Given the description of an element on the screen output the (x, y) to click on. 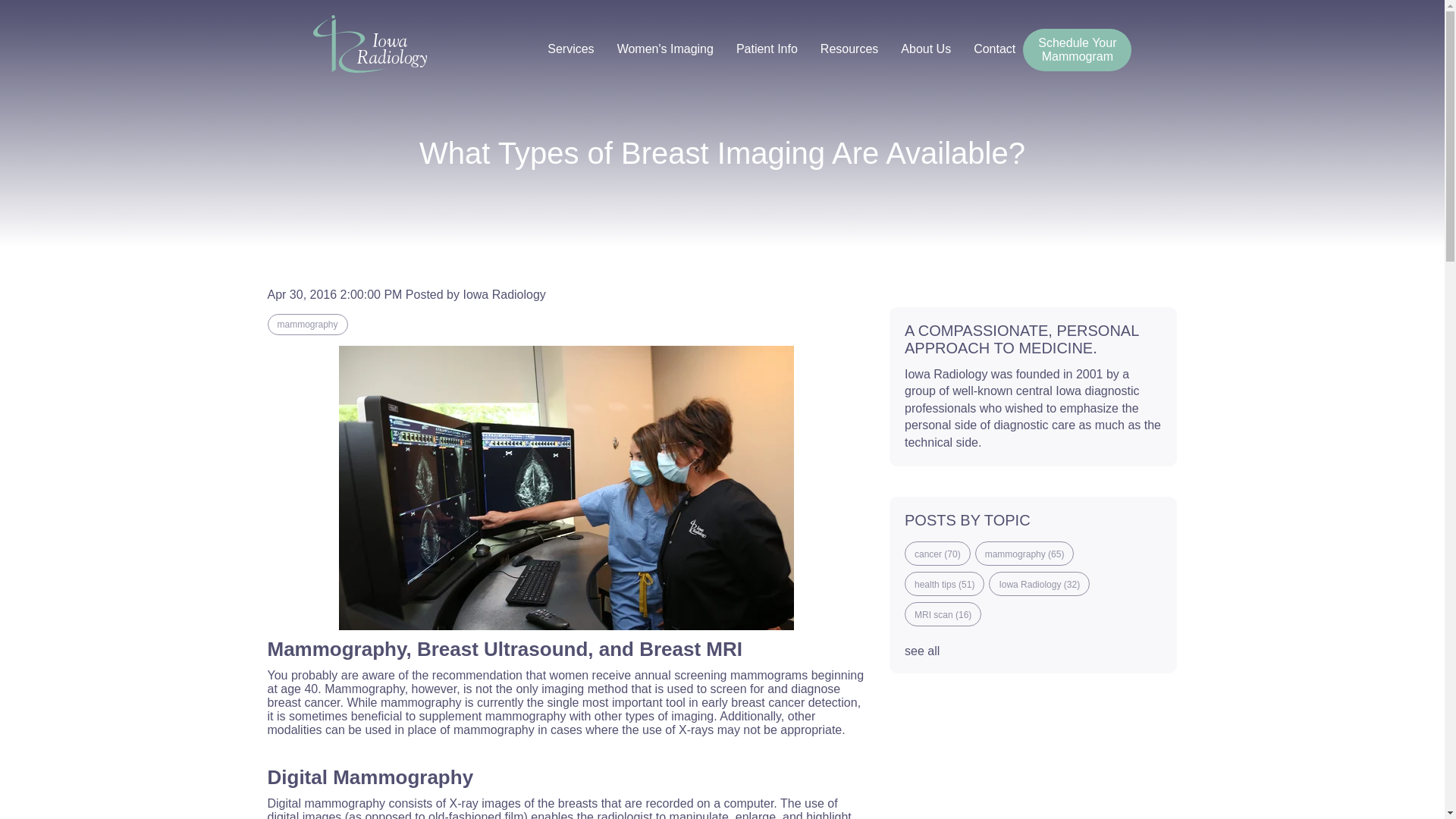
Women's Imaging (661, 49)
Resources (845, 49)
About Us (921, 49)
Patient Info (762, 49)
Services (1077, 49)
Contact (566, 49)
